Given the description of an element on the screen output the (x, y) to click on. 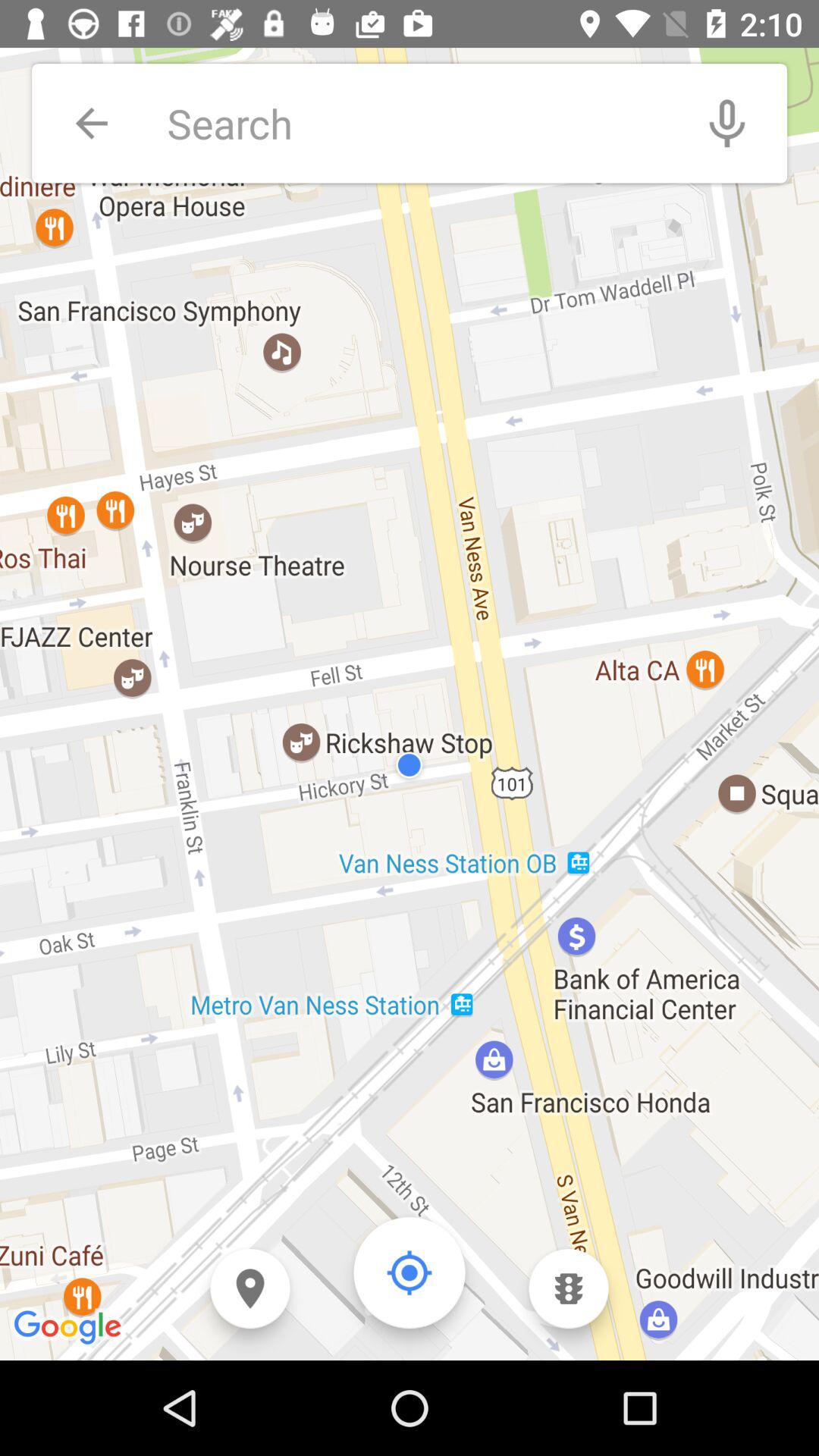
search map (417, 123)
